Given the description of an element on the screen output the (x, y) to click on. 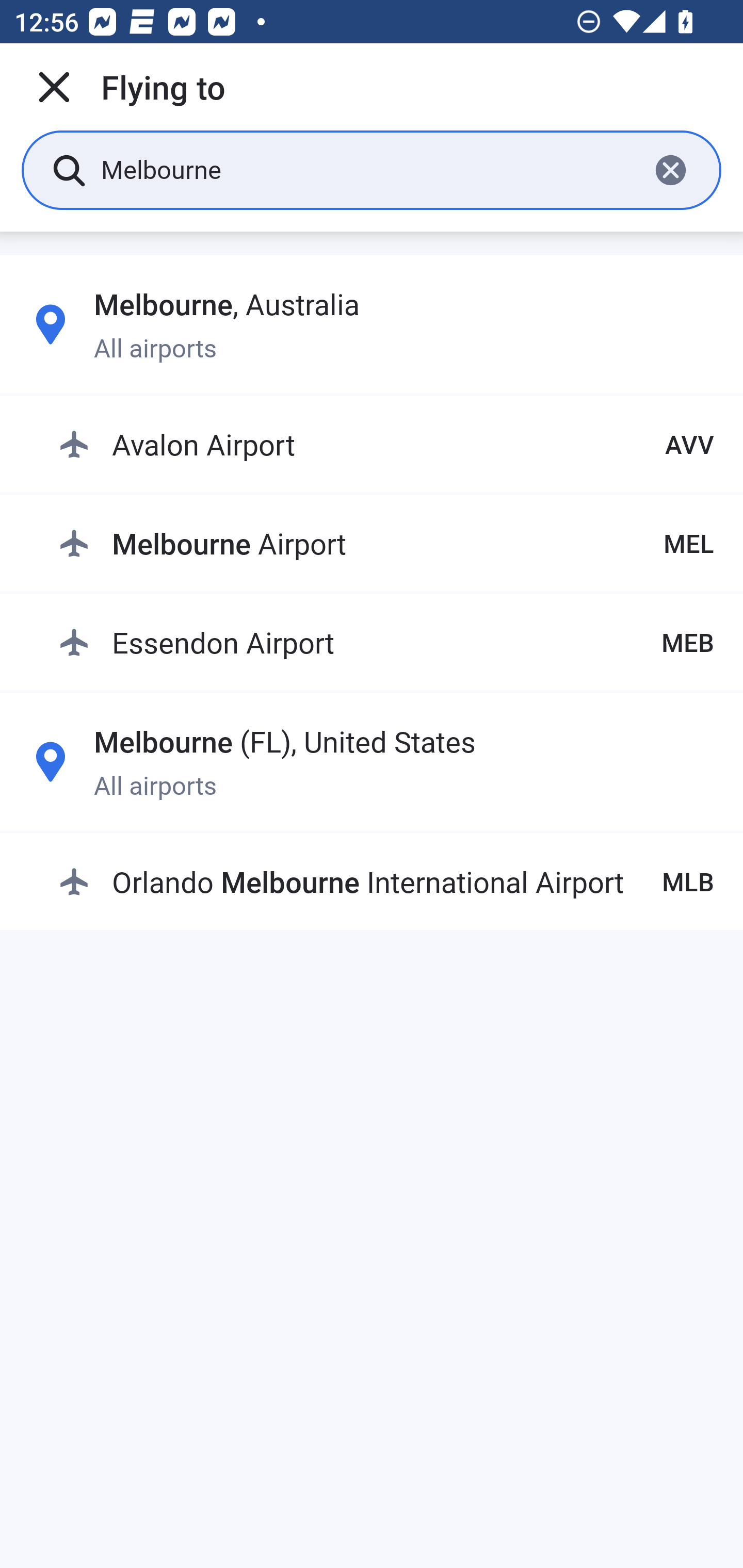
Melbourne (367, 169)
Melbourne, Australia All airports (371, 324)
Avalon Airport AVV (385, 444)
Melbourne Airport MEL (385, 543)
Essendon Airport MEB (385, 641)
Melbourne (FL), United States All airports (371, 761)
Orlando Melbourne International Airport MLB (385, 881)
